Given the description of an element on the screen output the (x, y) to click on. 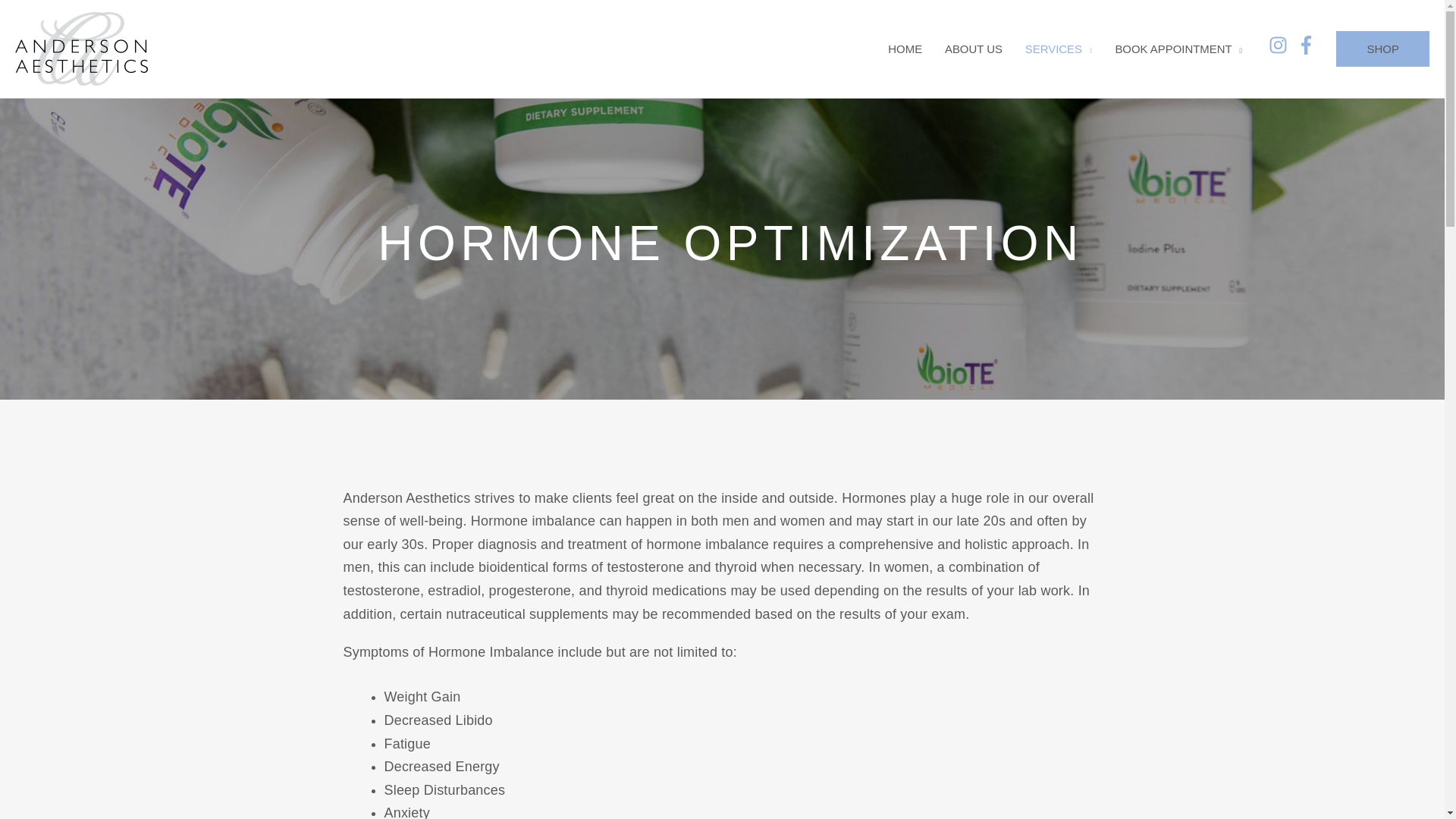
SERVICES (1058, 49)
ABOUT US (973, 49)
HOME (904, 49)
SHOP (1382, 49)
BOOK APPOINTMENT (1178, 49)
